Given the description of an element on the screen output the (x, y) to click on. 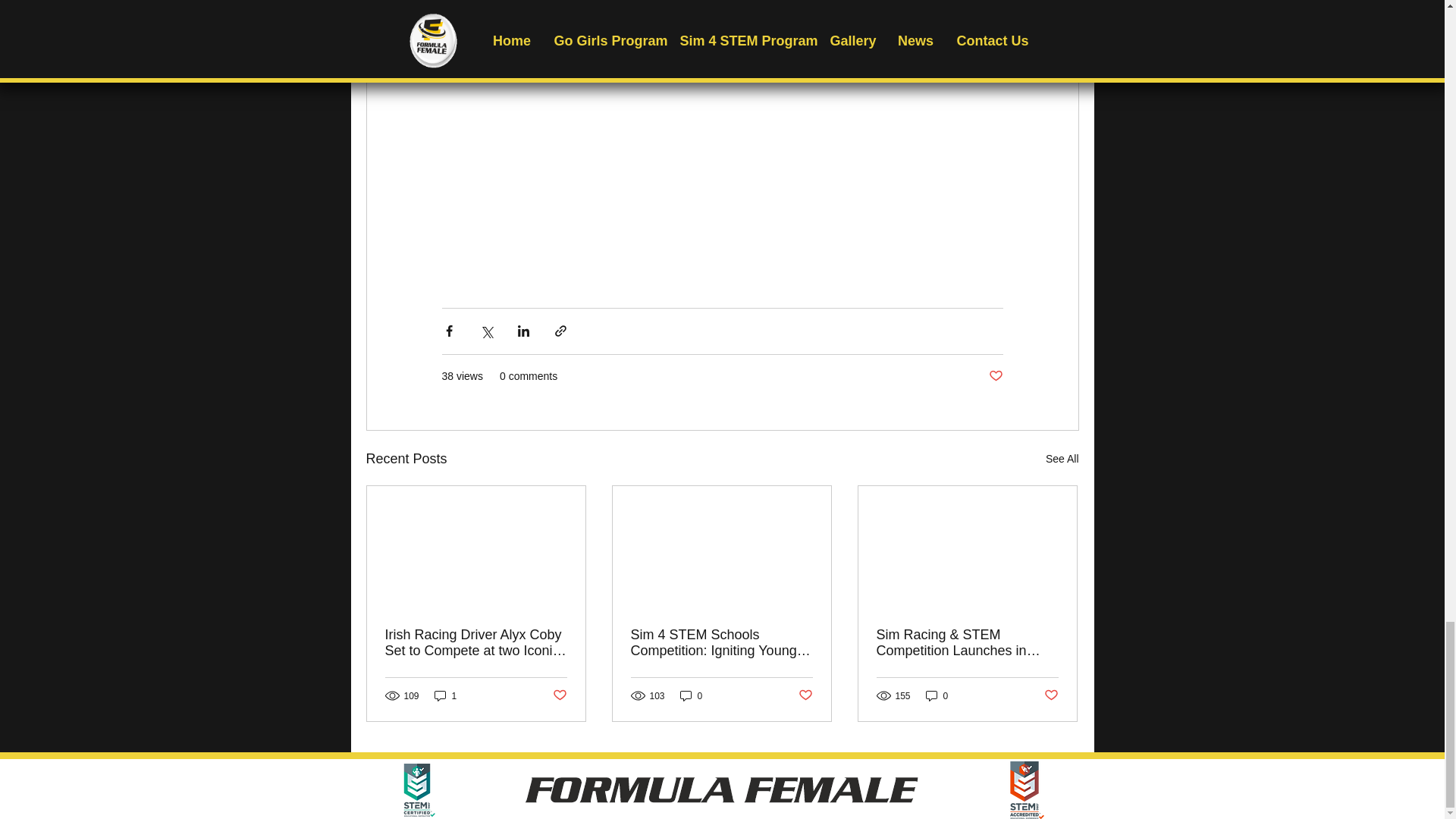
0 (691, 695)
Post not marked as liked (995, 376)
See All (1061, 458)
Post not marked as liked (1050, 695)
Post not marked as liked (558, 695)
1 (445, 695)
0 (937, 695)
Post not marked as liked (804, 695)
